Given the description of an element on the screen output the (x, y) to click on. 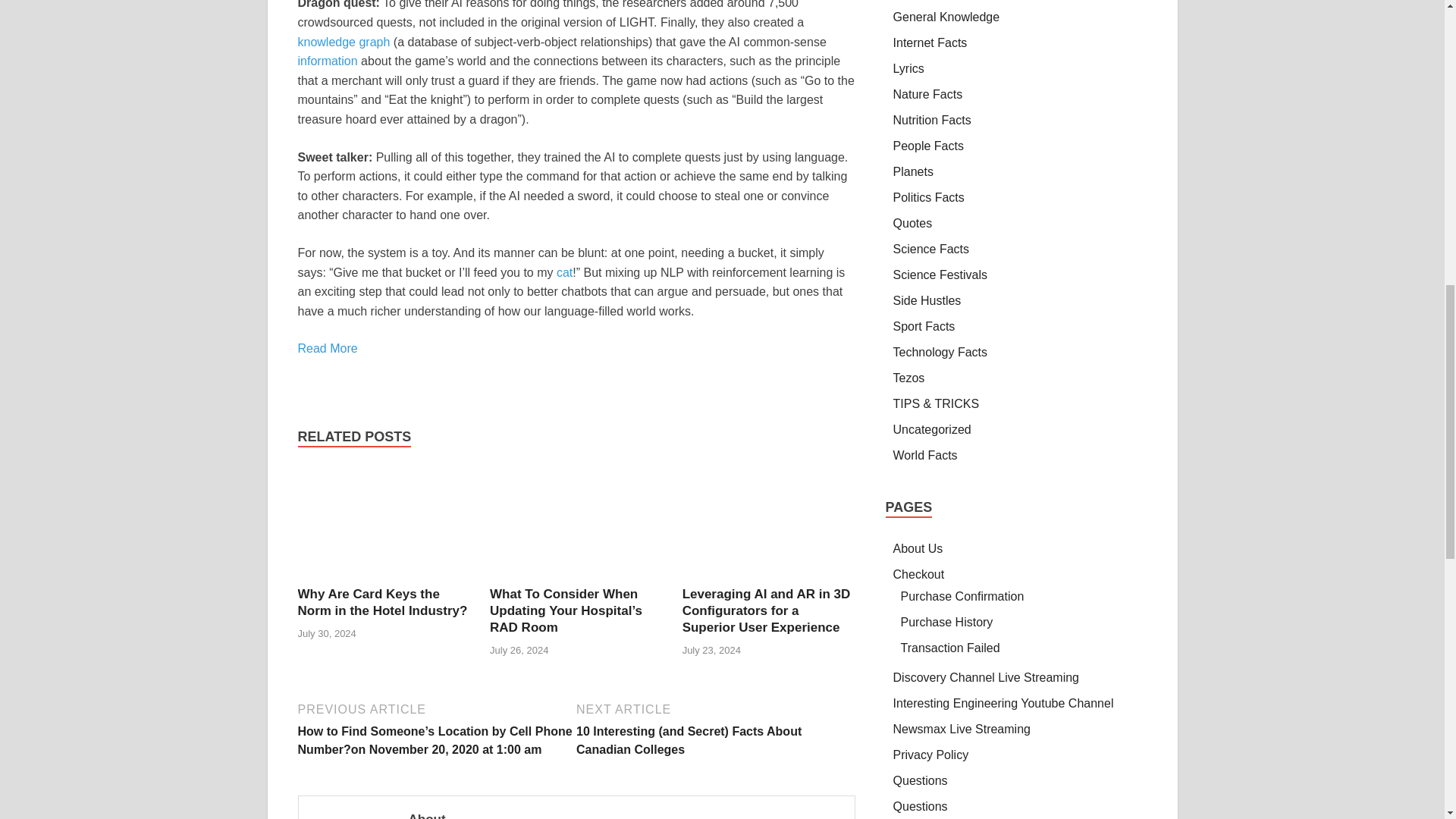
knowledge graph (343, 42)
Why Are Card Keys the Norm in the Hotel Industry? (382, 602)
cat (564, 272)
Why Are Card Keys the Norm in the Hotel Industry? (383, 576)
information (326, 60)
Why Are Card Keys the Norm in the Hotel Industry? (382, 602)
Read More (326, 348)
